Given the description of an element on the screen output the (x, y) to click on. 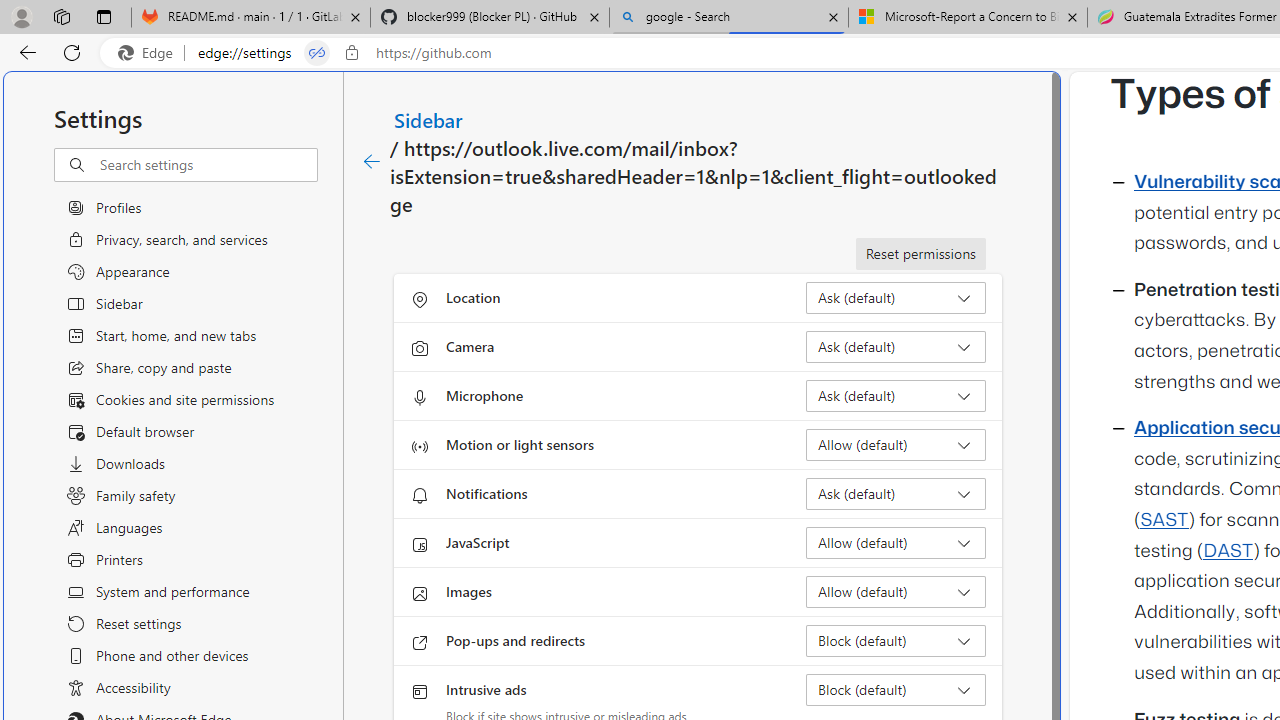
Personal Profile (21, 16)
Microphone Ask (default) (895, 395)
Images Allow (default) (895, 591)
Tab actions menu (104, 16)
Search settings (207, 165)
Location Ask (default) (895, 297)
JavaScript Allow (default) (895, 542)
SAST (1164, 520)
Intrusive ads Block (default) (895, 689)
Pop-ups and redirects Block (default) (895, 640)
Back (24, 52)
Microsoft-Report a Concern to Bing (967, 17)
Go back to Sidebar page. (372, 162)
Sidebar (429, 119)
